Given the description of an element on the screen output the (x, y) to click on. 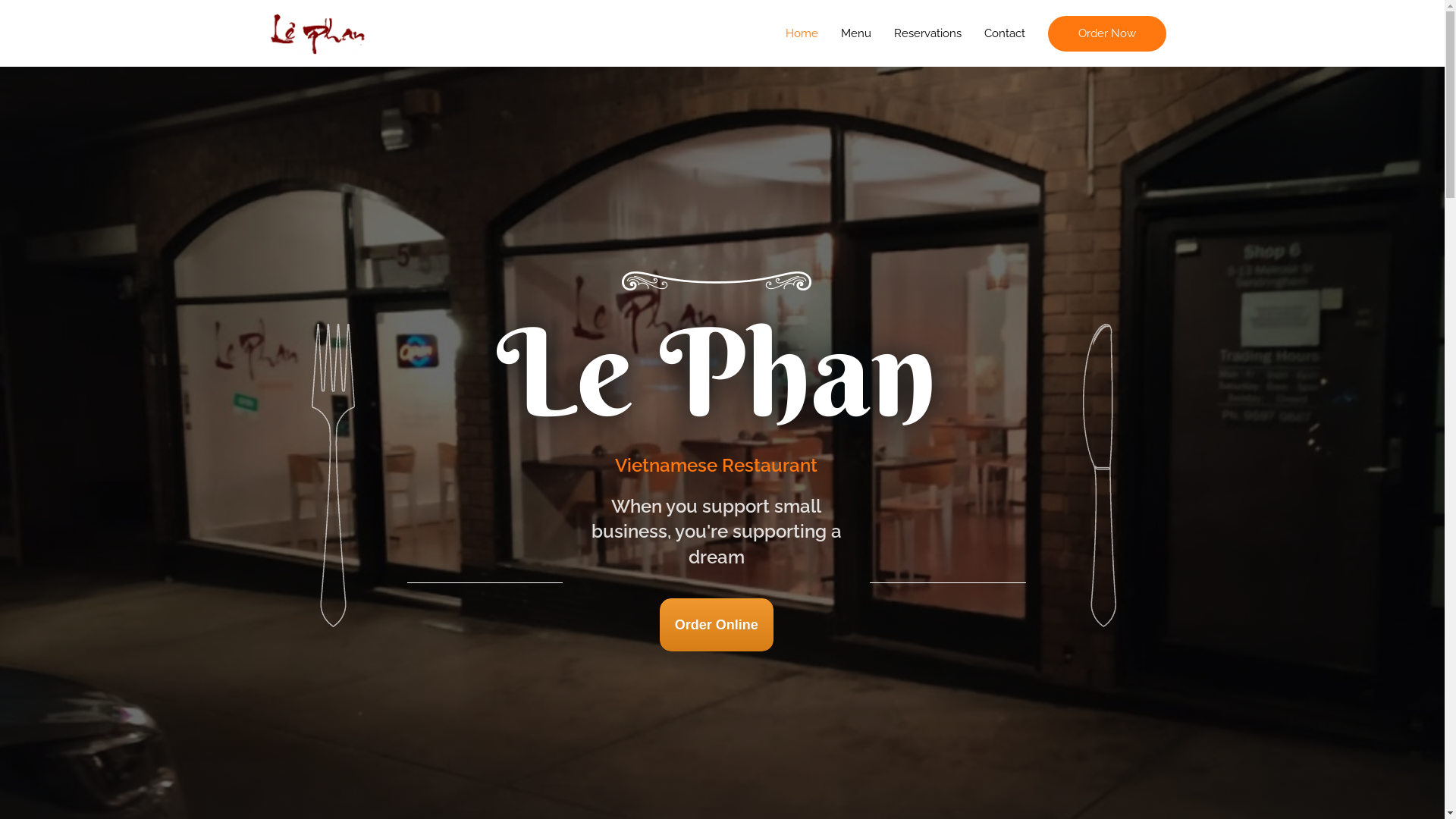
Menu Element type: text (855, 33)
Contact Element type: text (1003, 33)
Order Now Element type: text (1107, 32)
Reservations Element type: text (927, 33)
Home Element type: text (800, 33)
